Given the description of an element on the screen output the (x, y) to click on. 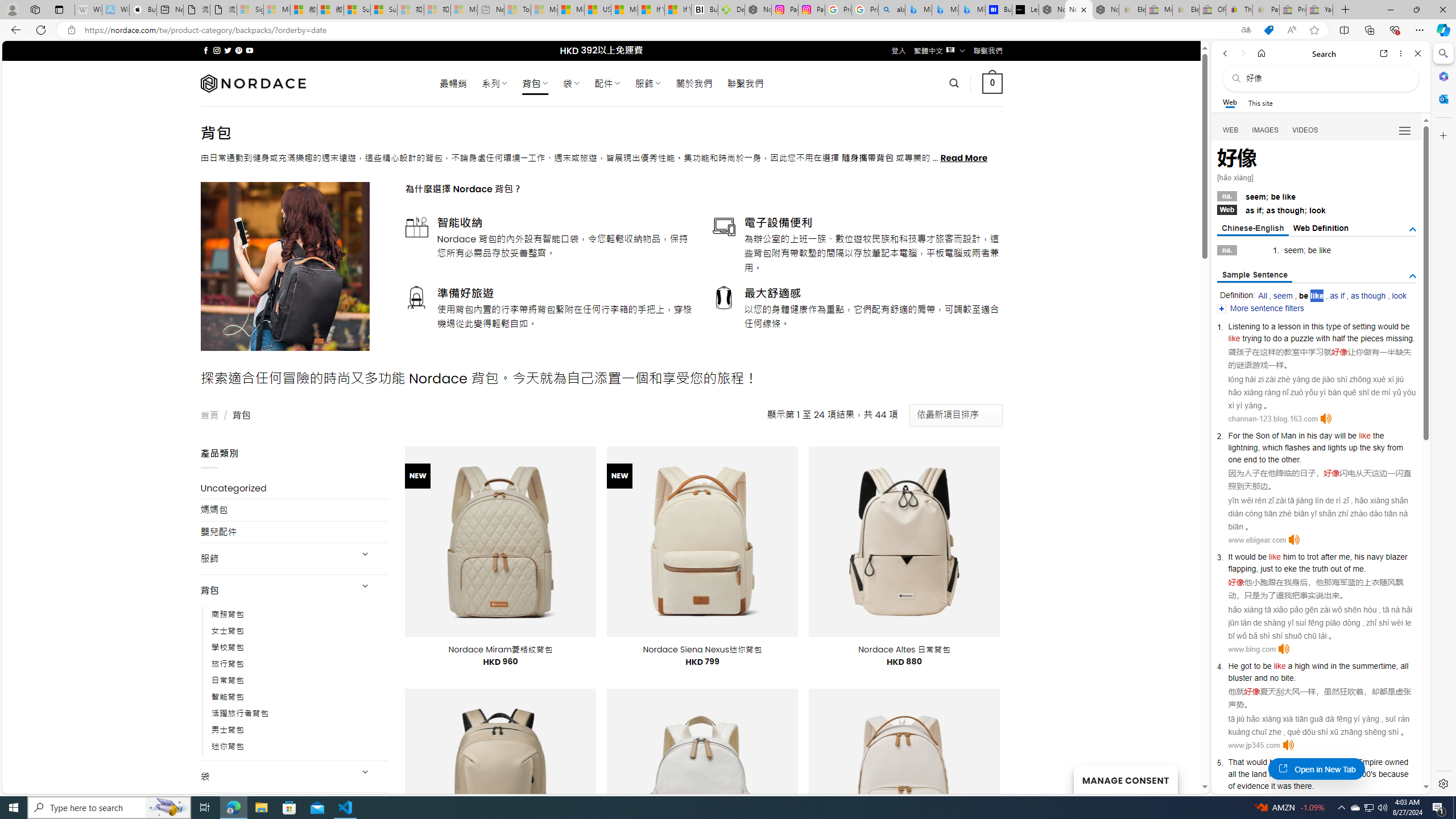
there (1301, 785)
For (1233, 435)
sky (1379, 447)
www.ebigear.com (1257, 539)
